Given the description of an element on the screen output the (x, y) to click on. 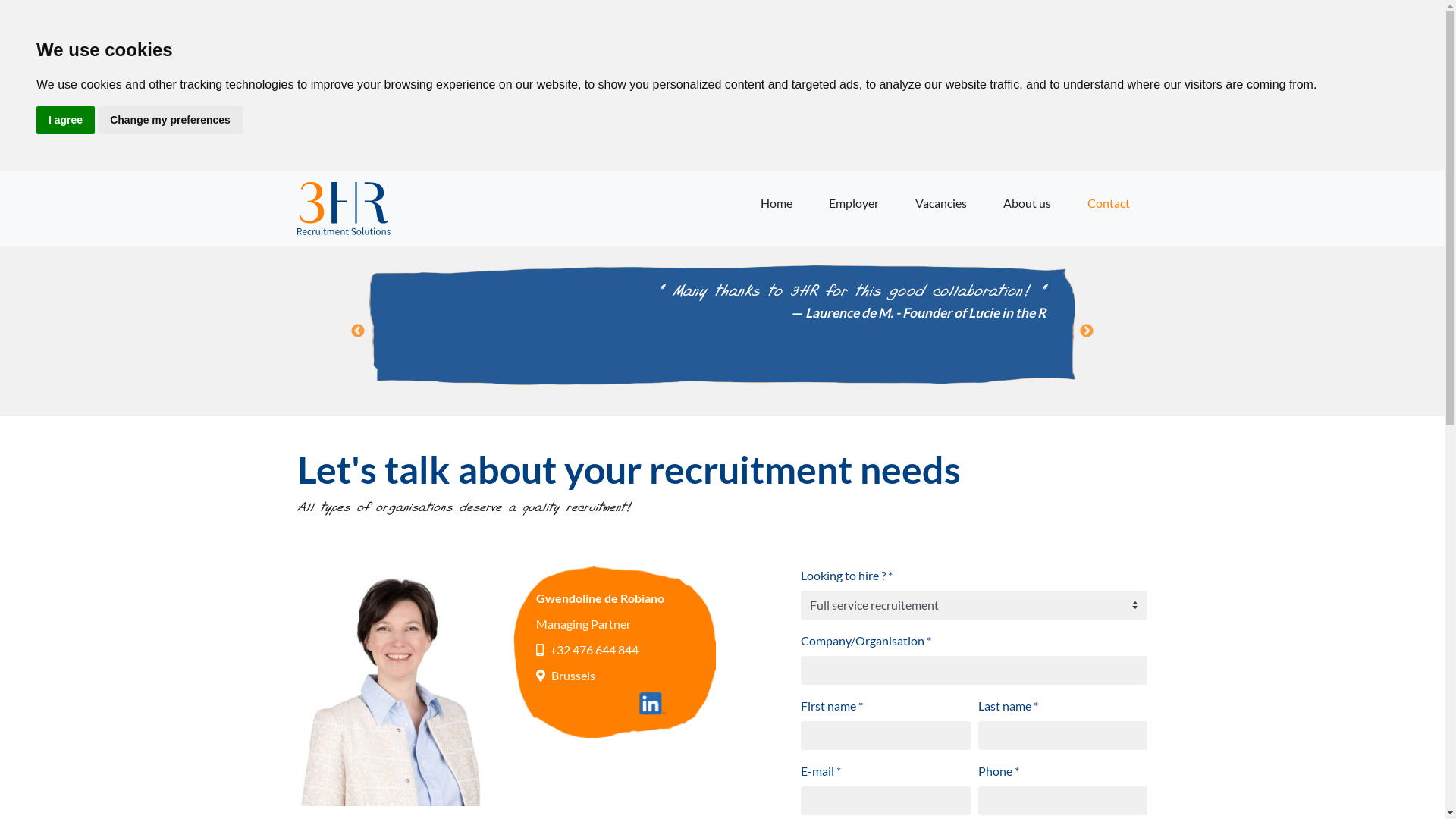
Contact Element type: text (1108, 203)
Previous Element type: text (357, 330)
Home Element type: text (775, 203)
About us Element type: text (1026, 203)
Next Element type: text (1086, 330)
I agree Element type: text (65, 120)
Employer Element type: text (853, 203)
Vacancies Element type: text (940, 203)
Change my preferences Element type: text (169, 120)
